Given the description of an element on the screen output the (x, y) to click on. 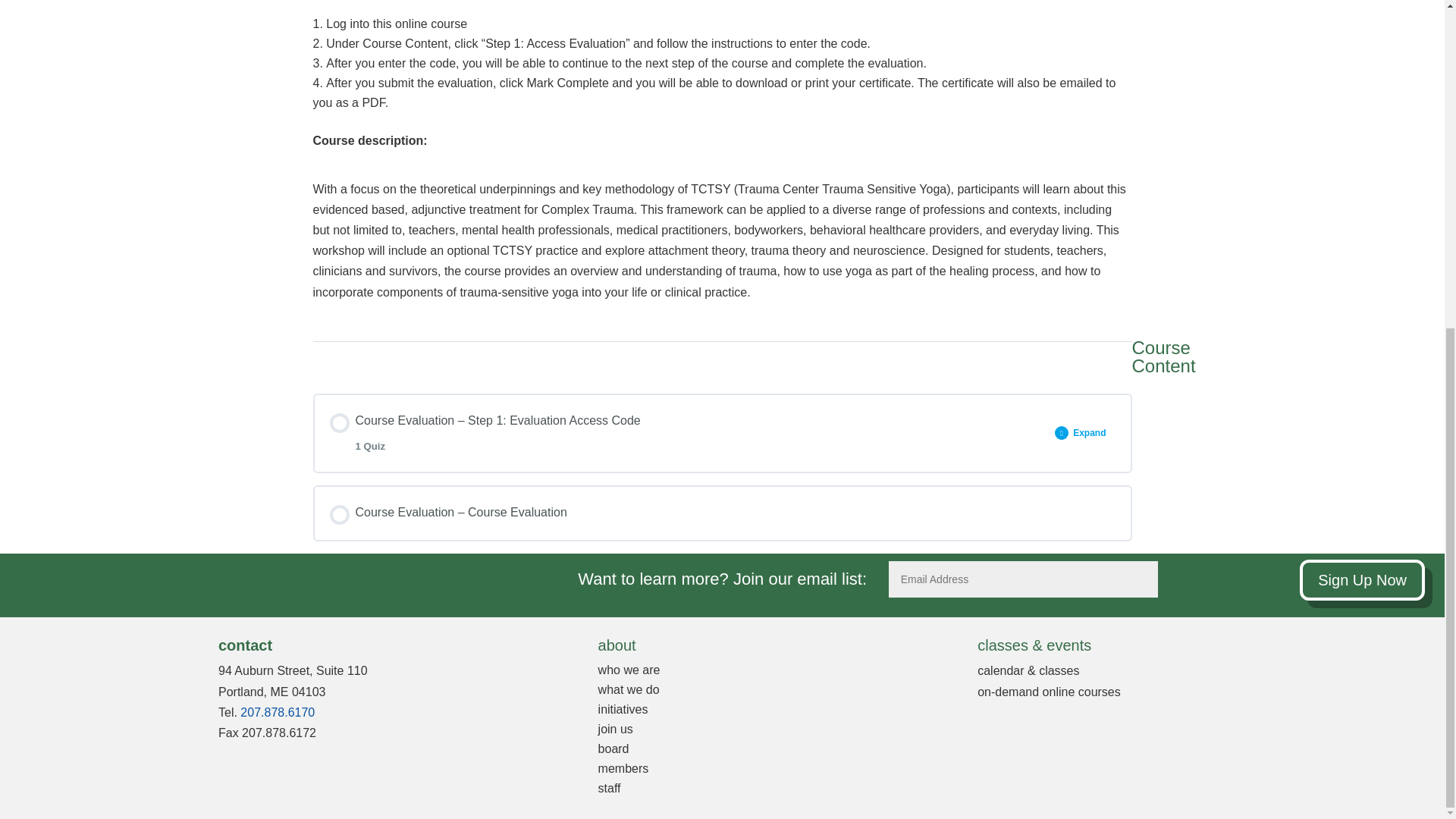
207.878.6170 (277, 712)
on-demand online courses (1048, 691)
what we do (628, 689)
board (613, 748)
members (623, 768)
staff (609, 788)
initiatives (622, 708)
who we are (629, 669)
join us (615, 728)
Sign Up Now (1362, 579)
